Given the description of an element on the screen output the (x, y) to click on. 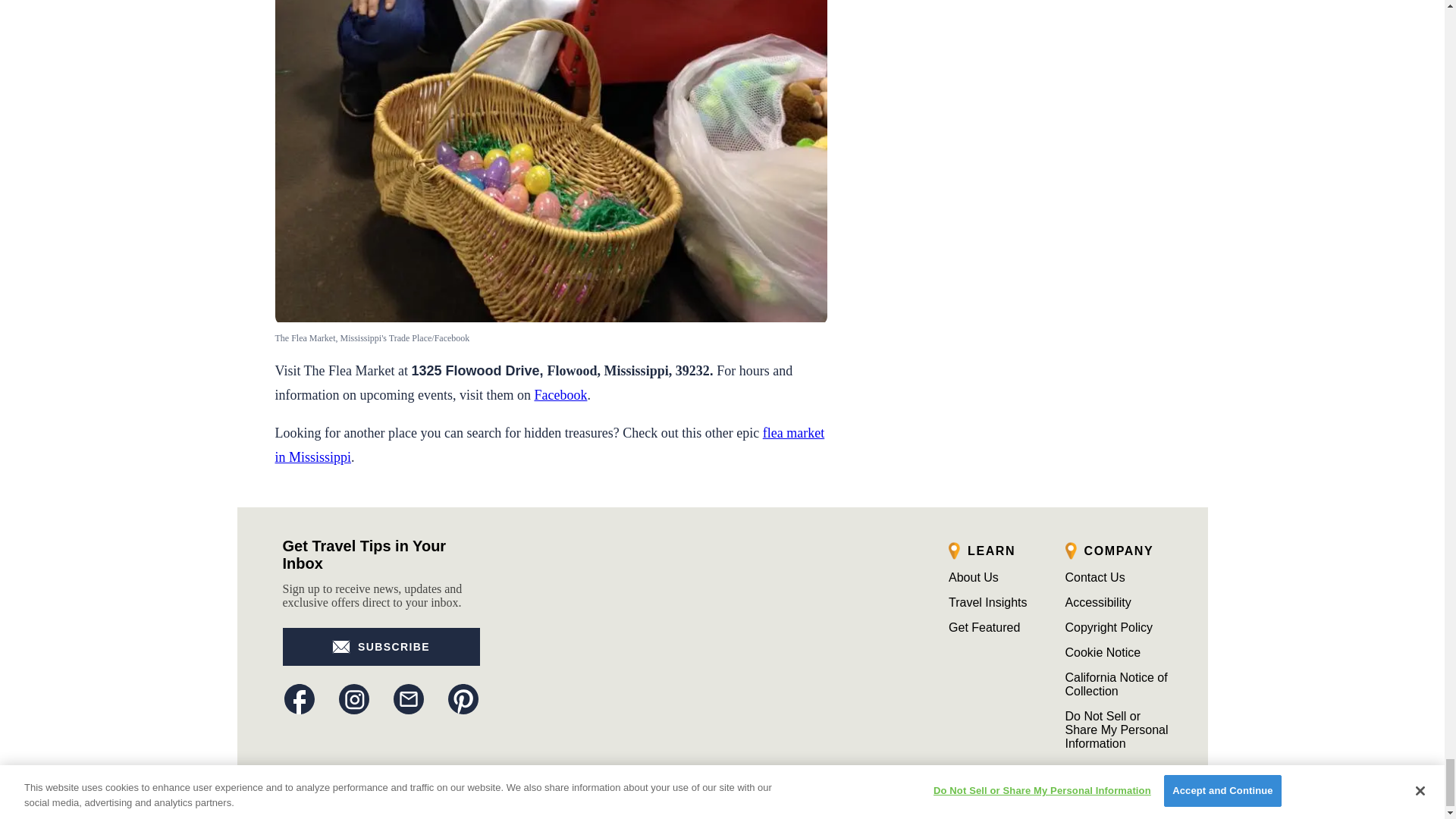
instagram (352, 698)
facebook (298, 698)
pinterest (461, 698)
newsletter (408, 698)
